Given the description of an element on the screen output the (x, y) to click on. 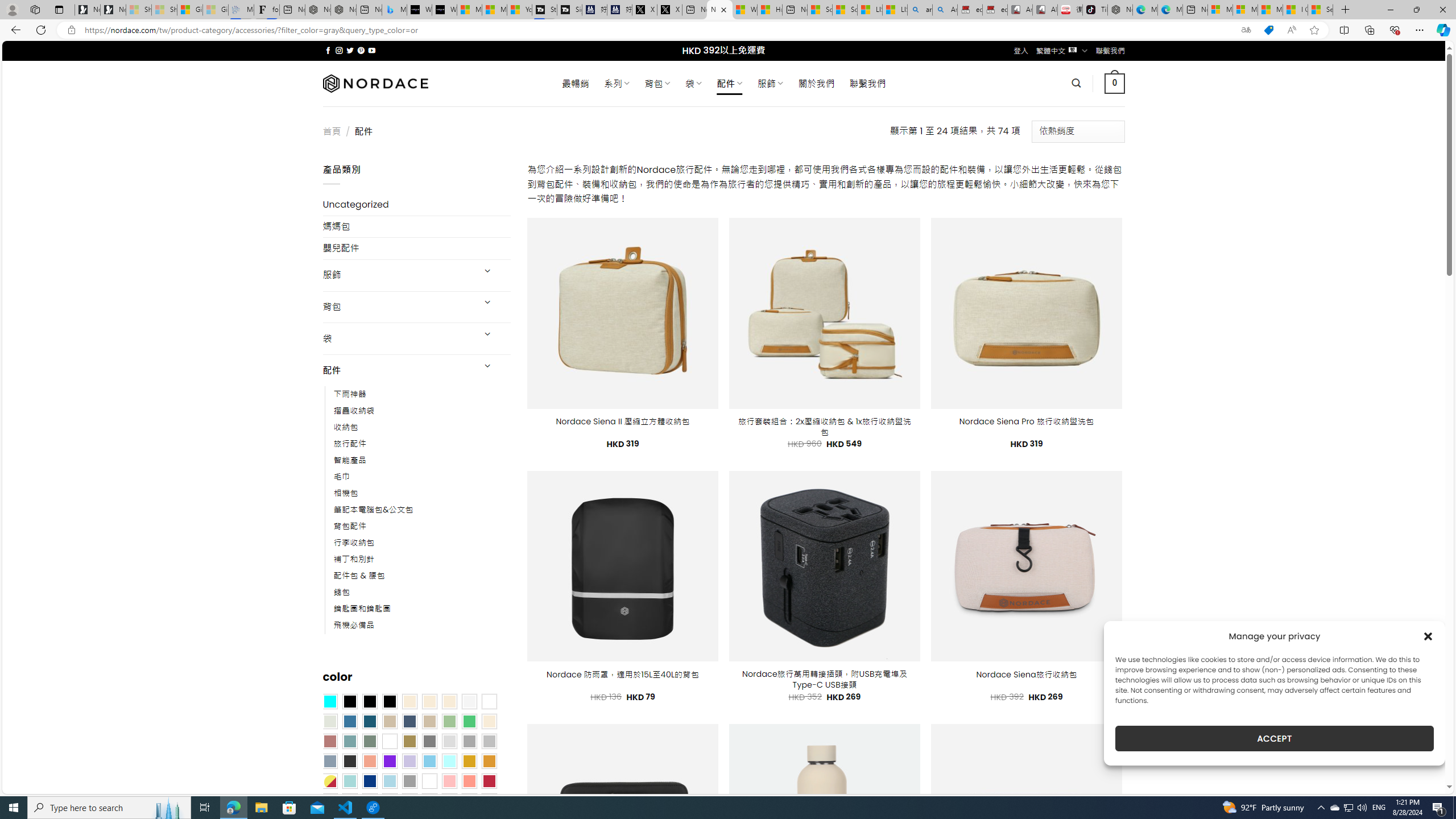
Nordace - #1 Japanese Best-Seller - Siena Smart Backpack (343, 9)
Follow on Pinterest (360, 50)
